Given the description of an element on the screen output the (x, y) to click on. 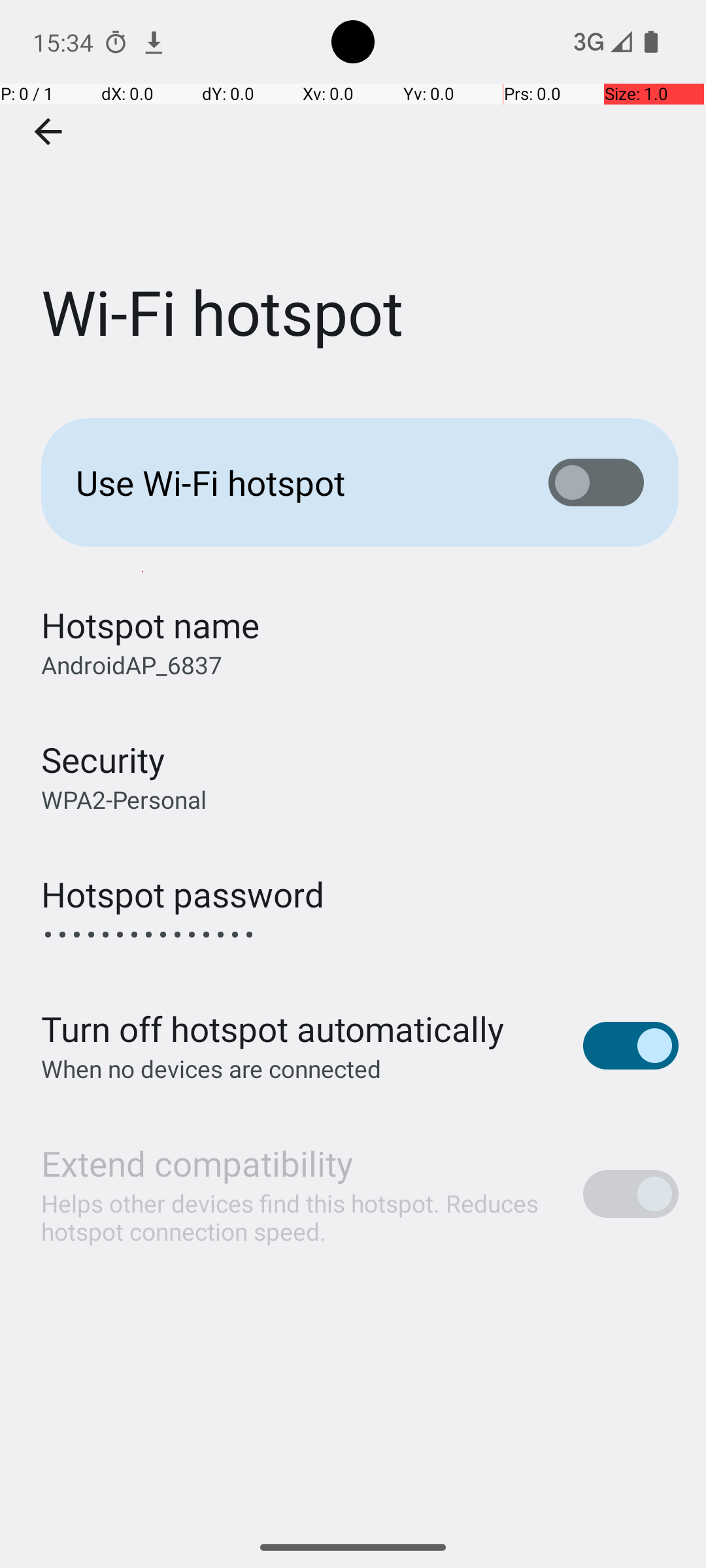
Wi‑Fi hotspot Element type: android.widget.FrameLayout (353, 195)
Use Wi‑Fi hotspot Element type: android.widget.TextView (291, 482)
Hotspot name Element type: android.widget.TextView (150, 624)
AndroidAP_6837 Element type: android.widget.TextView (131, 664)
WPA2-Personal Element type: android.widget.TextView (124, 799)
Hotspot password Element type: android.widget.TextView (182, 893)
••••••••••••••• Element type: android.widget.TextView (148, 933)
Turn off hotspot automatically Element type: android.widget.TextView (272, 1028)
When no devices are connected Element type: android.widget.TextView (211, 1068)
Extend compatibility Element type: android.widget.TextView (197, 1163)
Helps other devices find this hotspot. Reduces hotspot connection speed. Element type: android.widget.TextView (298, 1216)
